Given the description of an element on the screen output the (x, y) to click on. 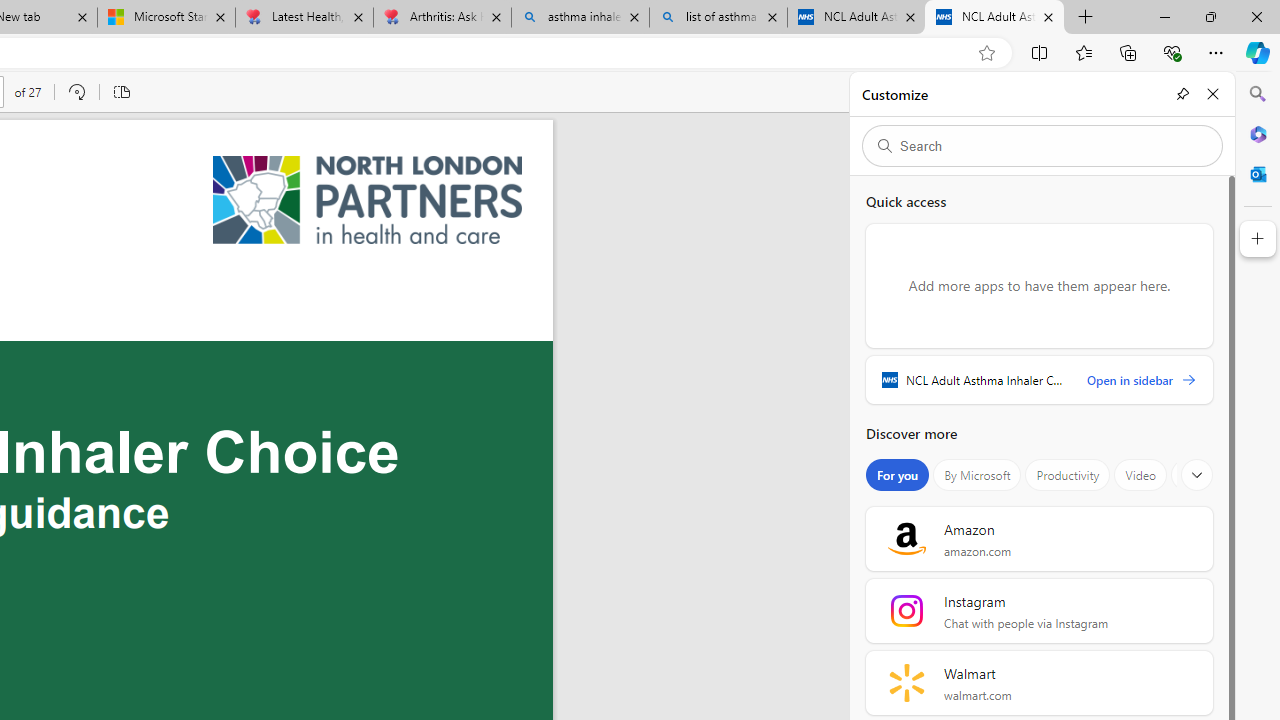
Rotate (Ctrl+]) (75, 92)
Page view (120, 92)
Video (1140, 475)
Productivity (1068, 475)
Print (Ctrl+P) (1121, 92)
Enter PDF full screen (1203, 92)
By Microsoft (977, 475)
